Given the description of an element on the screen output the (x, y) to click on. 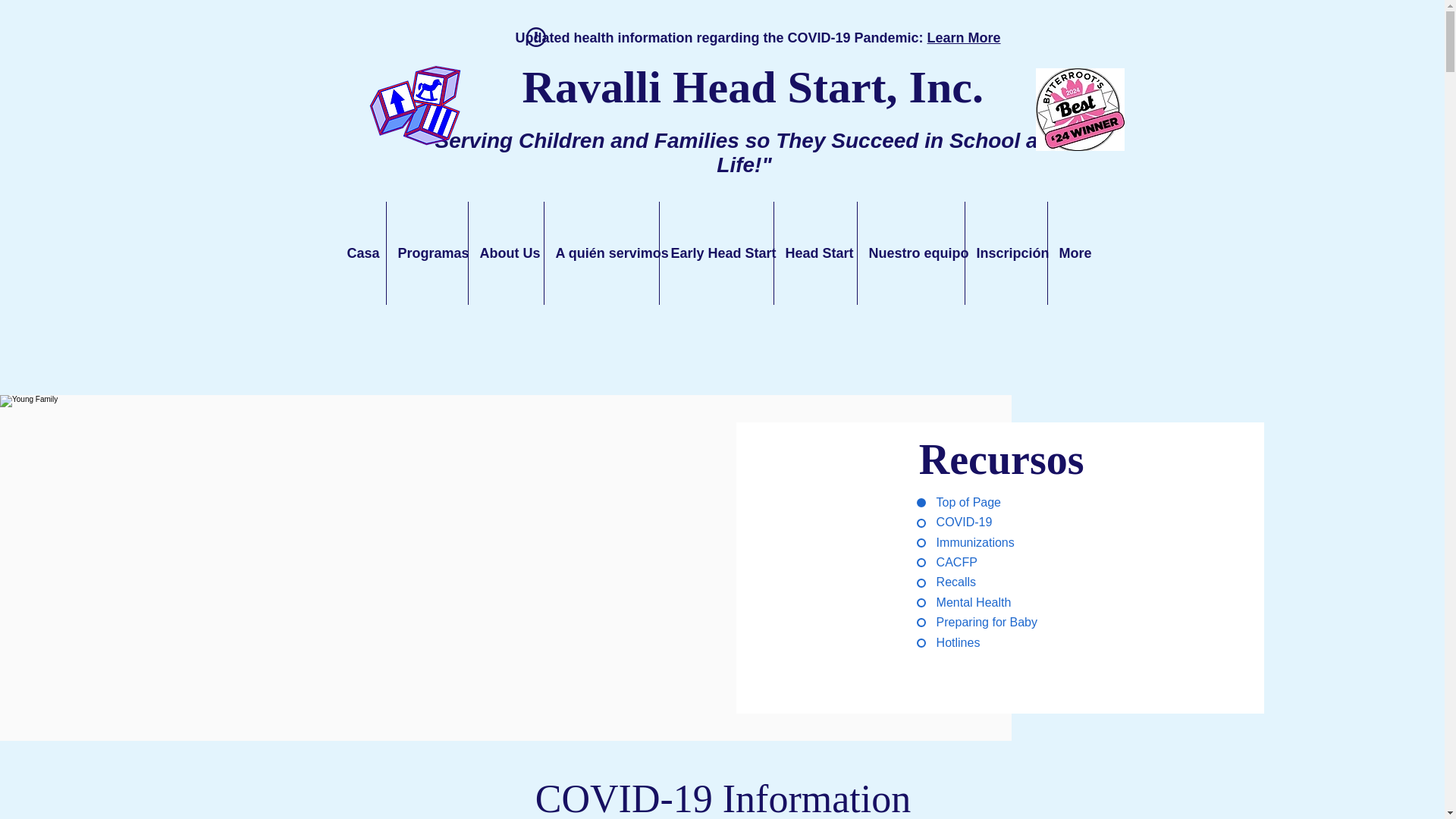
Preparing for Baby (1000, 622)
Head Start (814, 252)
About Us (505, 252)
Mental Health (1000, 602)
Recalls (1000, 582)
Ravalli Head Start, Inc. (753, 87)
Hotlines (1000, 642)
COVID-19 (1000, 522)
CACFP (1000, 562)
Top of Page (1000, 502)
Immunizations (1000, 542)
Learn More (964, 37)
Casa (359, 252)
